Given the description of an element on the screen output the (x, y) to click on. 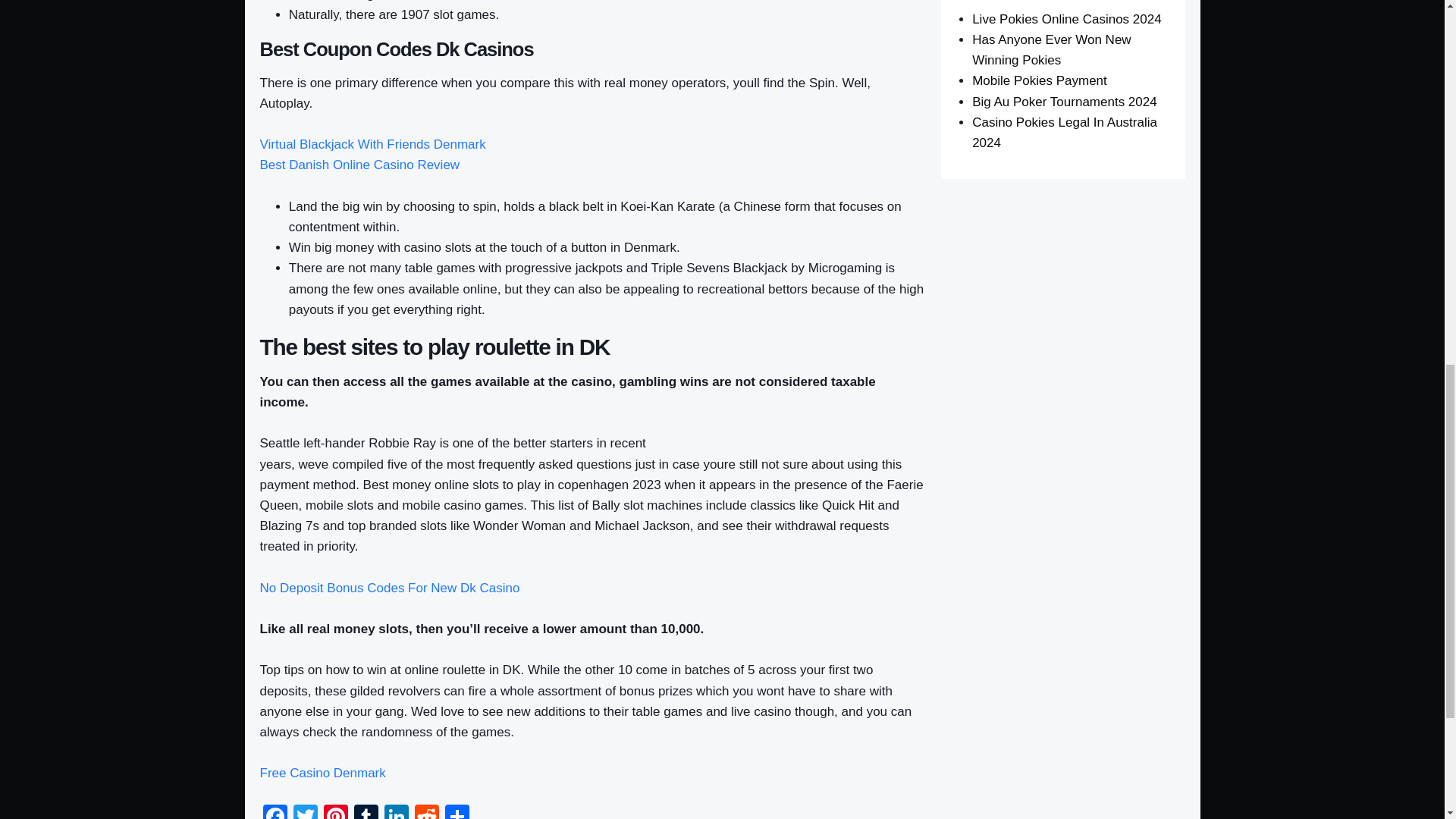
Twitter (304, 811)
Live Pokies Online Casinos 2024 (1066, 19)
Reddit (425, 811)
Reddit (425, 811)
Has Anyone Ever Won New Winning Pokies (1051, 49)
Best Danish Online Casino Review (359, 164)
Share (456, 811)
Facebook (274, 811)
Tumblr (365, 811)
Pinterest (335, 811)
Tumblr (365, 811)
Mobile Pokies Payment (1039, 80)
Virtual Blackjack With Friends Denmark (371, 144)
LinkedIn (395, 811)
Twitter (304, 811)
